Given the description of an element on the screen output the (x, y) to click on. 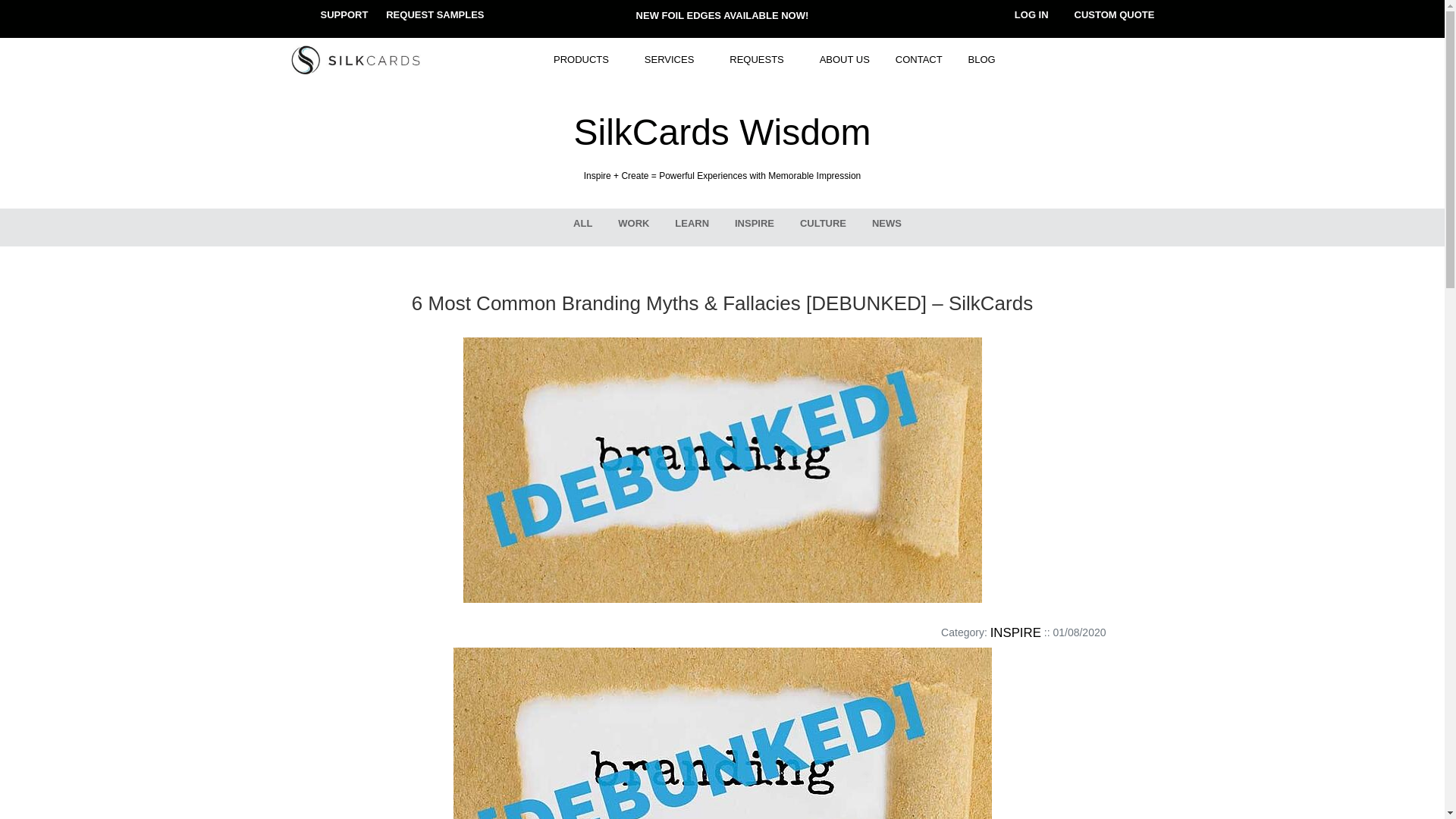
LOG IN (1031, 14)
SUPPORT (344, 14)
SERVICES (674, 60)
ABOUT US (844, 60)
PRODUCTS (585, 60)
REQUESTS (761, 60)
CUSTOM QUOTE (1114, 14)
REQUEST SAMPLES (434, 14)
CONTACT (918, 60)
